Given the description of an element on the screen output the (x, y) to click on. 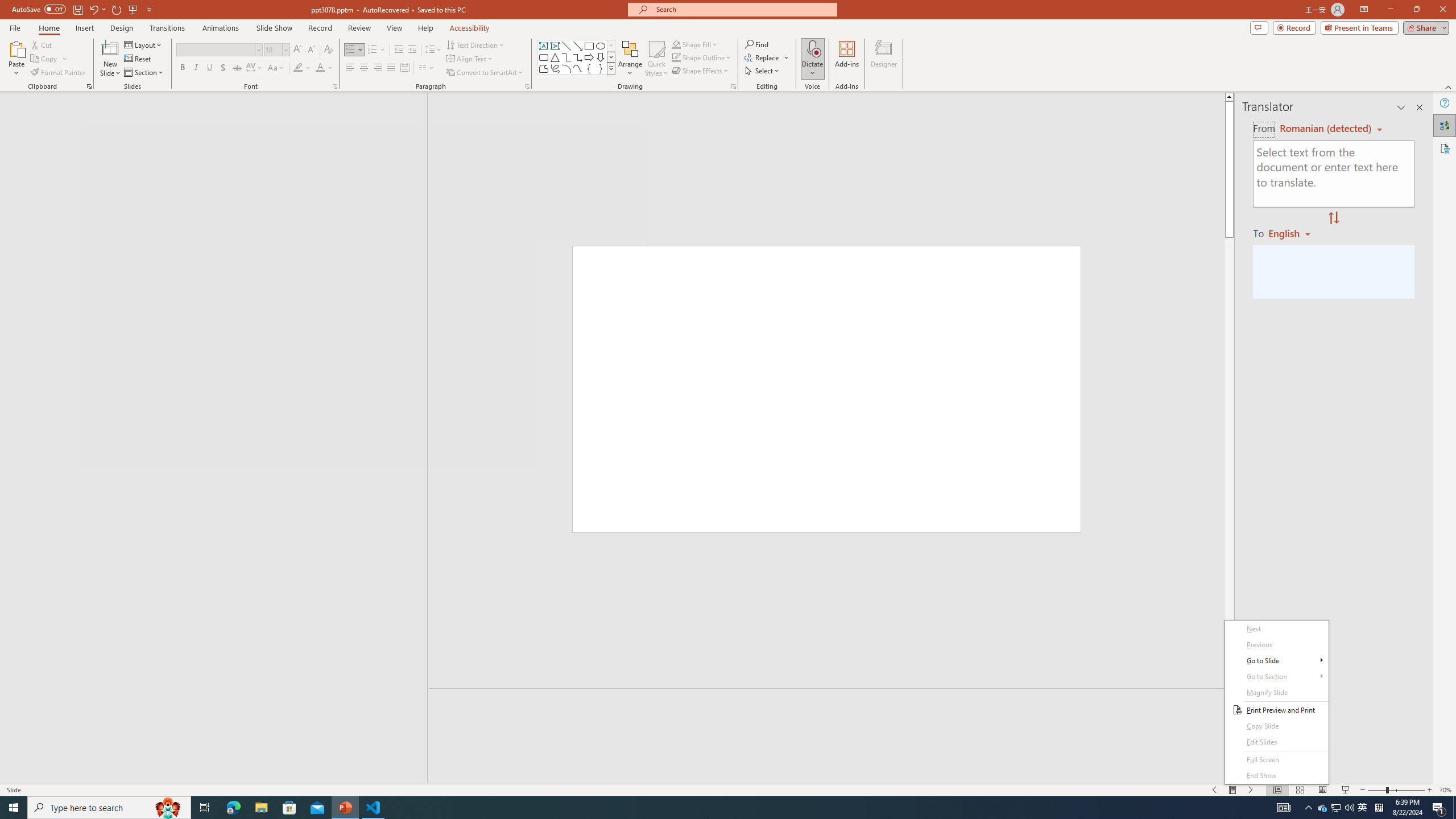
Copy Slide (1276, 726)
Microsoft Edge (233, 807)
Running applications (700, 807)
Visual Studio Code (21, 528)
Go to Section (1276, 676)
Full Screen (1276, 759)
Action Center, 1 new notification (1439, 807)
Context Menu (1276, 701)
